Given the description of an element on the screen output the (x, y) to click on. 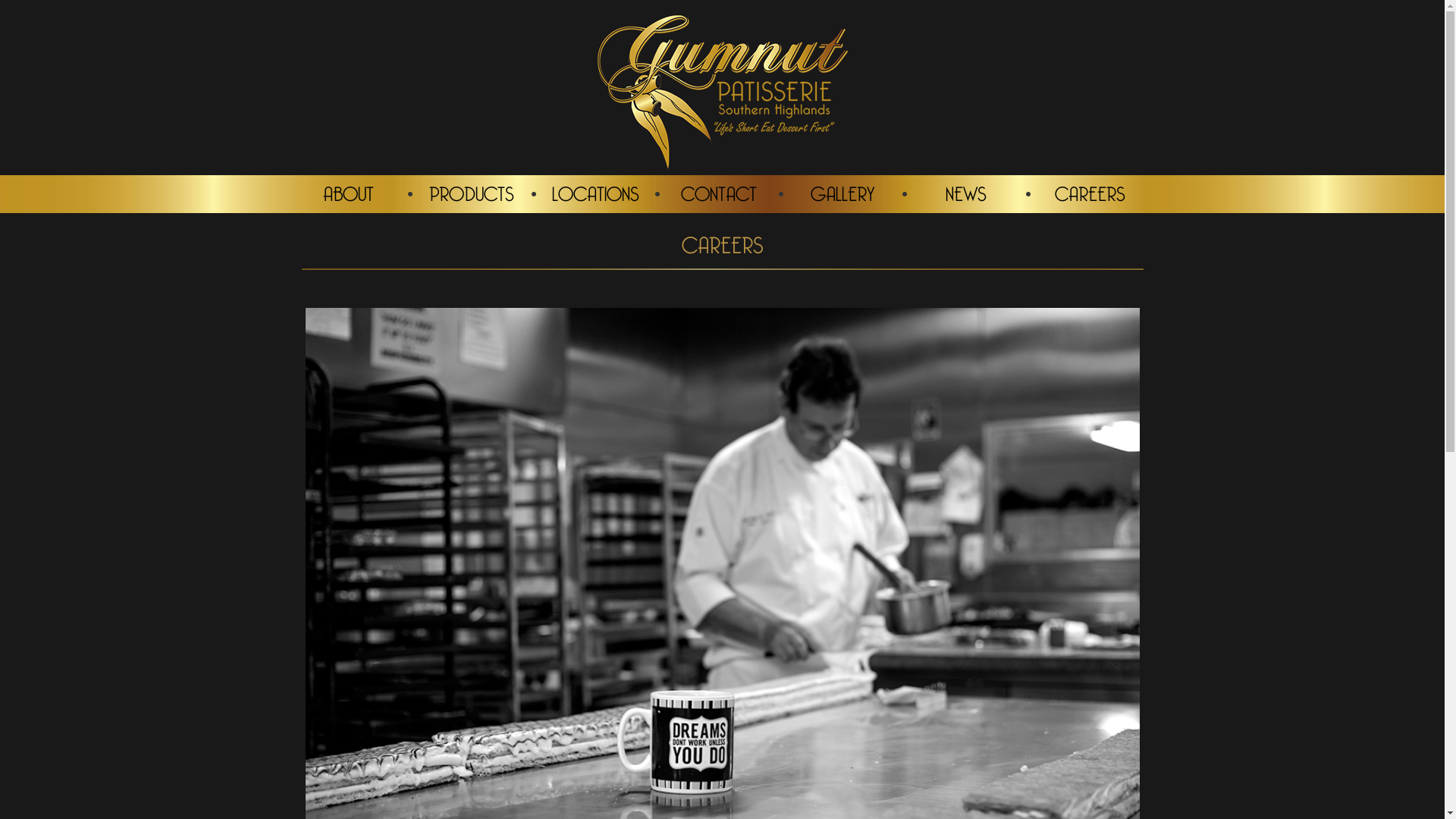
GALLERY Element type: text (842, 194)
ABOUT Element type: text (347, 194)
CAREERS Element type: text (1089, 194)
CONTACT Element type: text (719, 194)
LOCATIONS Element type: text (594, 194)
NEWS Element type: text (966, 194)
PRODUCTS Element type: text (472, 194)
